Given the description of an element on the screen output the (x, y) to click on. 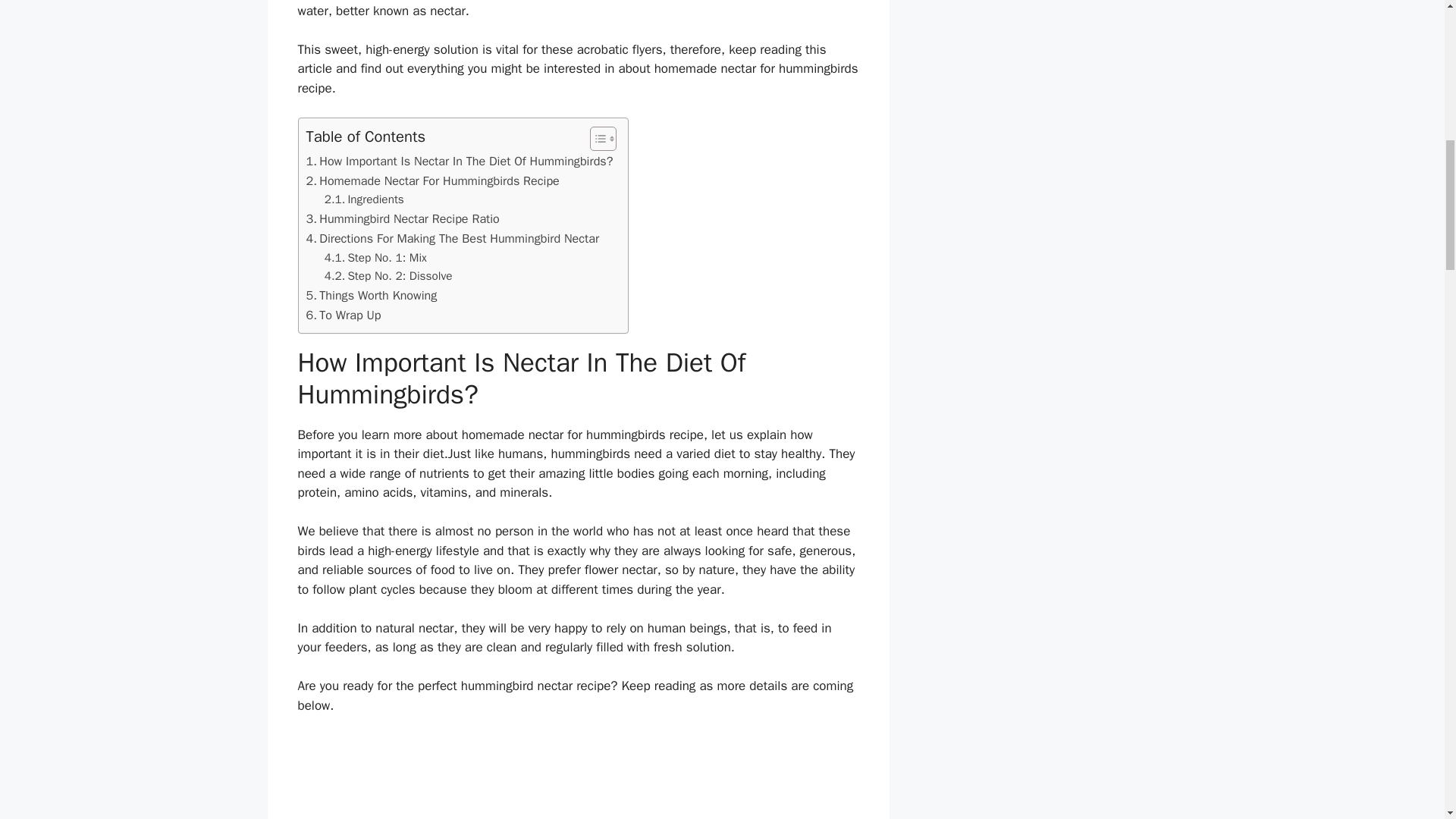
Step No. 1: Mix (375, 257)
Ingredients (364, 199)
Directions For Making The Best Hummingbird Nectar (452, 238)
Things Worth Knowing (371, 295)
Homemade Nectar For Hummingbirds Recipe (432, 180)
Homemade Nectar For Hummingbirds Recipe (432, 180)
To Wrap Up (343, 315)
Hummingbird Nectar Recipe Ratio (402, 219)
Ingredients (364, 199)
How Important Is Nectar In The Diet Of Hummingbirds? (458, 161)
